Given the description of an element on the screen output the (x, y) to click on. 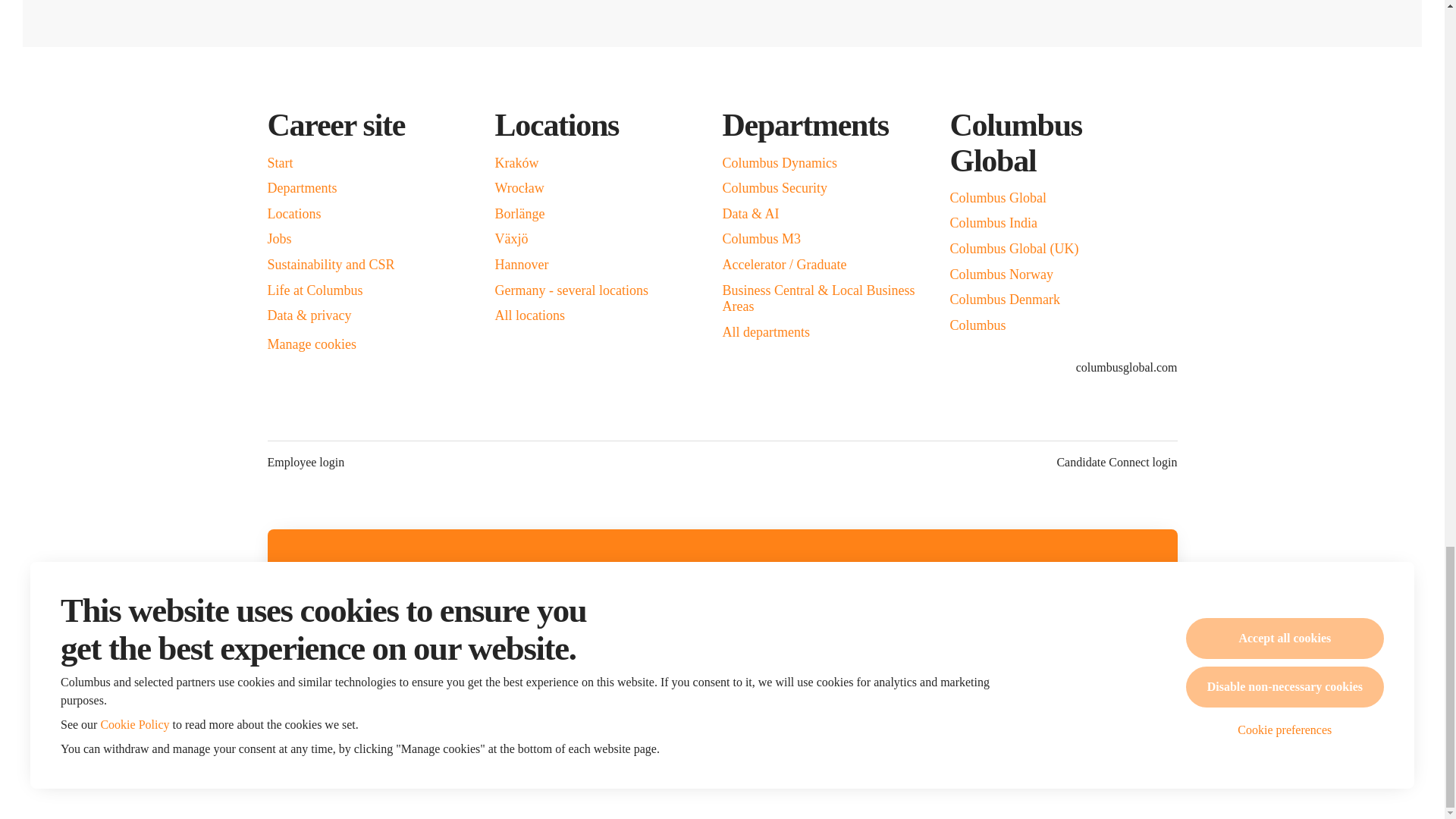
Andree Forsberg (908, 738)
David Hedman (610, 738)
Lilja Wiberg (462, 738)
Log in (887, 660)
Michal Begej (834, 738)
